Given the description of an element on the screen output the (x, y) to click on. 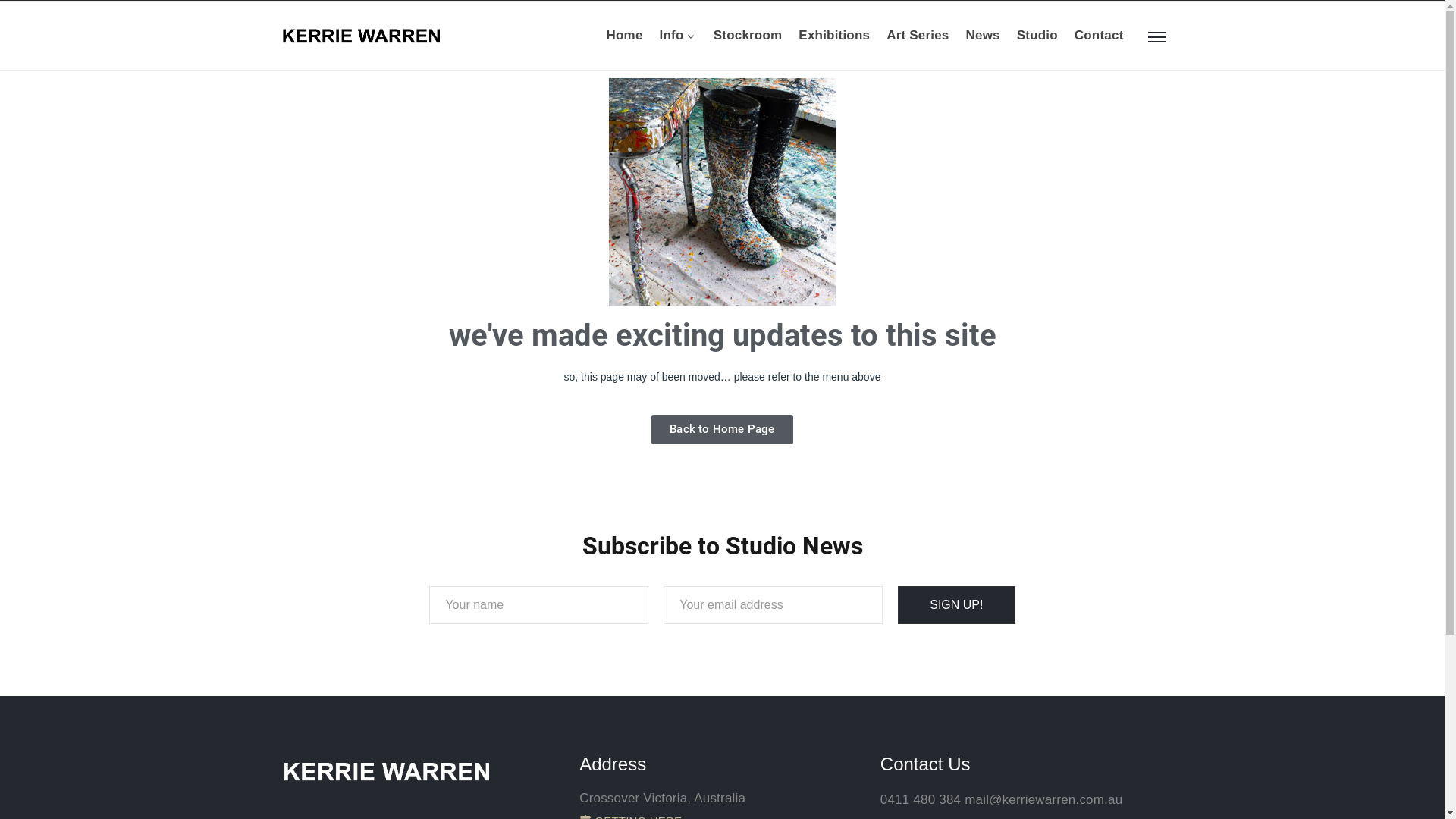
Exhibitions Element type: text (833, 35)
Art Series Element type: text (917, 35)
Stockroom Element type: text (747, 35)
Info Element type: text (677, 35)
Studio Element type: text (1036, 35)
News Element type: text (983, 35)
Contact Element type: text (1098, 35)
Home Element type: text (624, 35)
Sign up! Element type: text (955, 605)
mail@kerriewarren.com.au Element type: text (1043, 799)
Back to Home Page Element type: text (721, 429)
0411 480 384 Element type: text (920, 799)
